Given the description of an element on the screen output the (x, y) to click on. 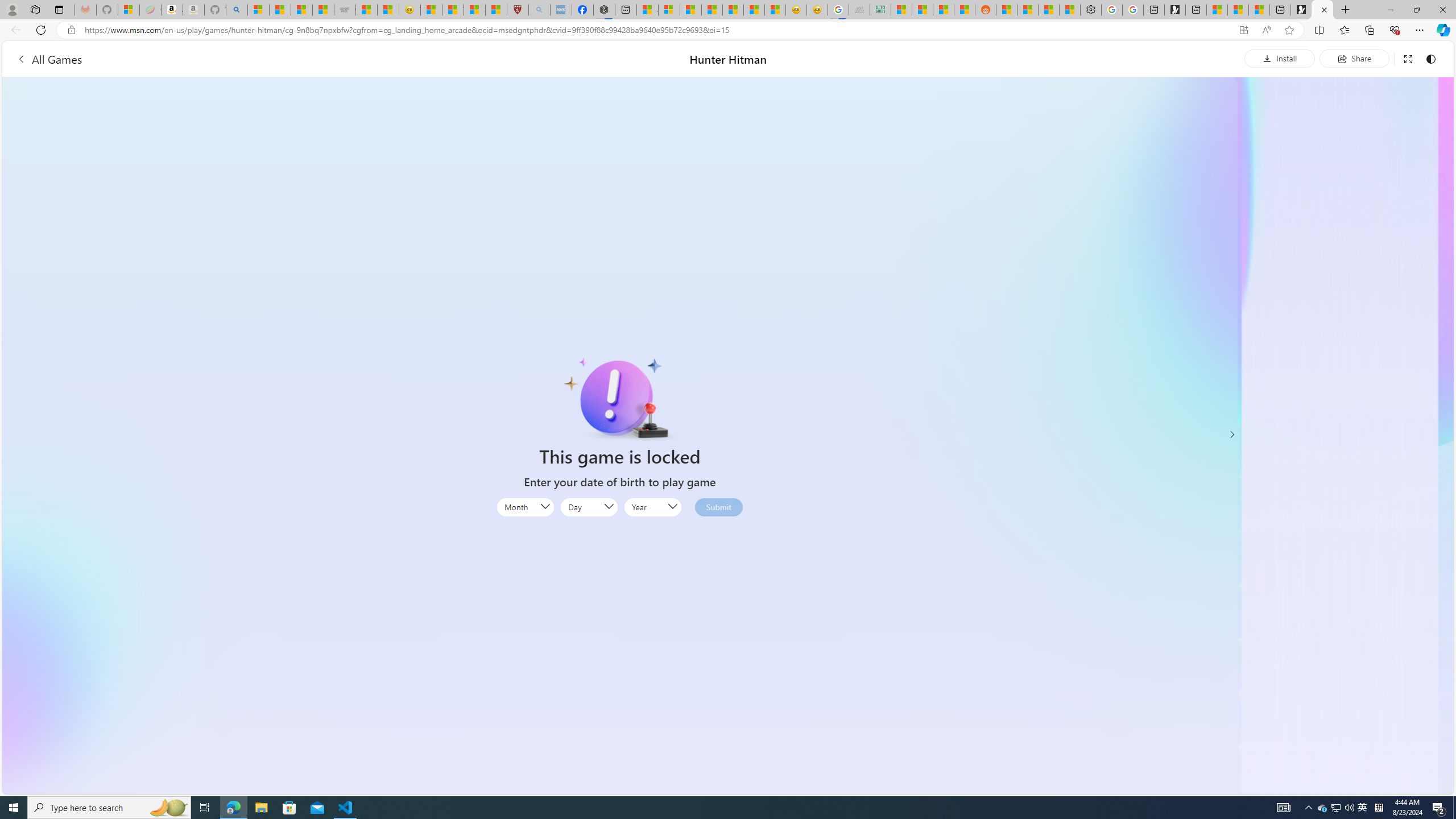
Combat Siege (345, 9)
Recipes - MSN (431, 9)
Stocks - MSN (943, 9)
Address and search bar (658, 29)
All Games (49, 58)
Microsoft-Report a Concern to Bing (128, 9)
Favorites (1344, 29)
12 Popular Science Lies that Must be Corrected (496, 9)
